Given the description of an element on the screen output the (x, y) to click on. 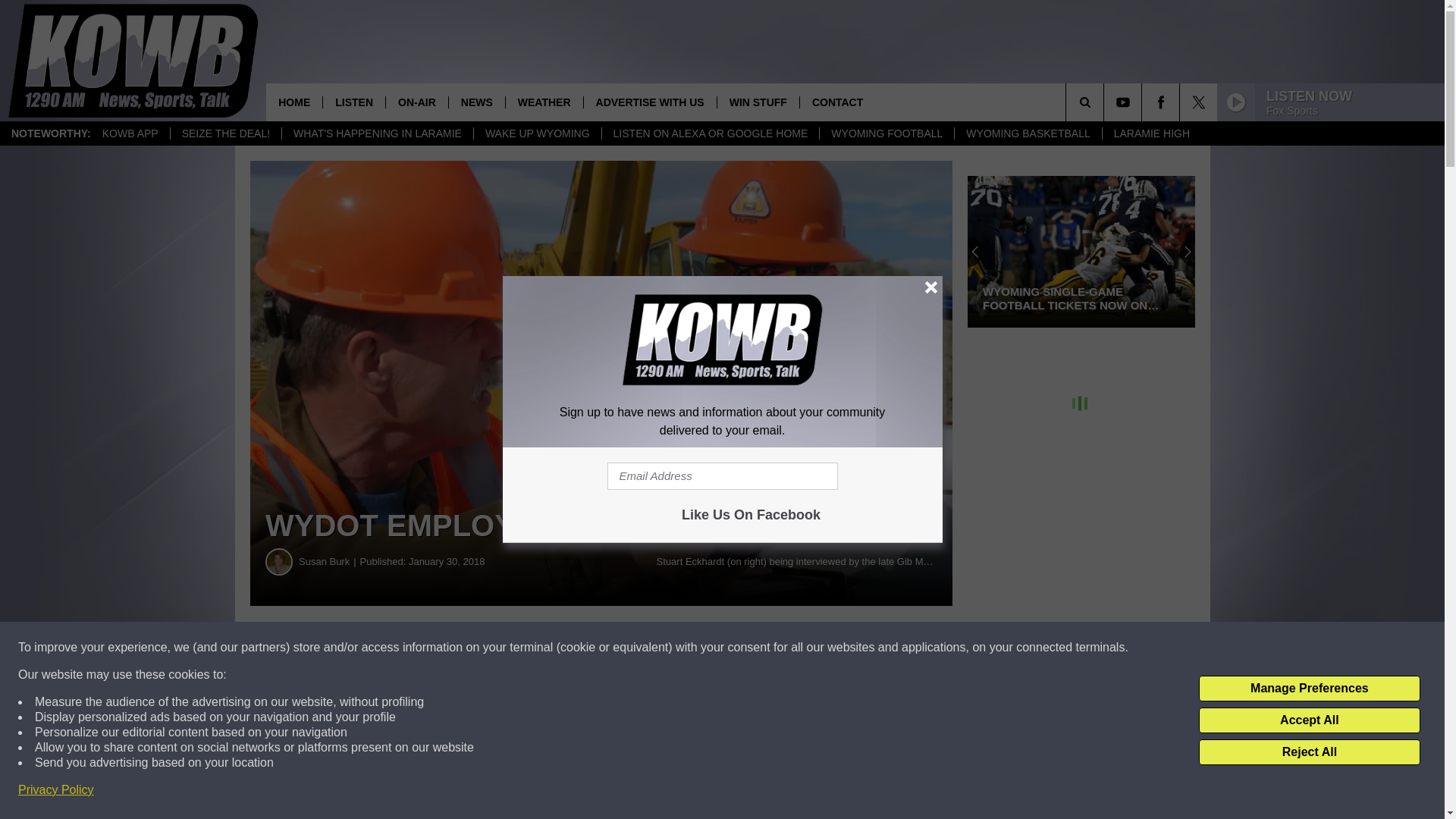
Email Address (722, 475)
WYOMING BASKETBALL (1026, 133)
LARAMIE HIGH (1151, 133)
Manage Preferences (1309, 688)
HOME (293, 102)
Share on Twitter (741, 647)
Share on Facebook (460, 647)
SEARCH (1106, 102)
LISTEN (353, 102)
LISTEN ON ALEXA OR GOOGLE HOME (710, 133)
Reject All (1309, 751)
WYOMING FOOTBALL (885, 133)
SEARCH (1106, 102)
NEWS (476, 102)
WHAT'S HAPPENING IN LARAMIE (377, 133)
